Given the description of an element on the screen output the (x, y) to click on. 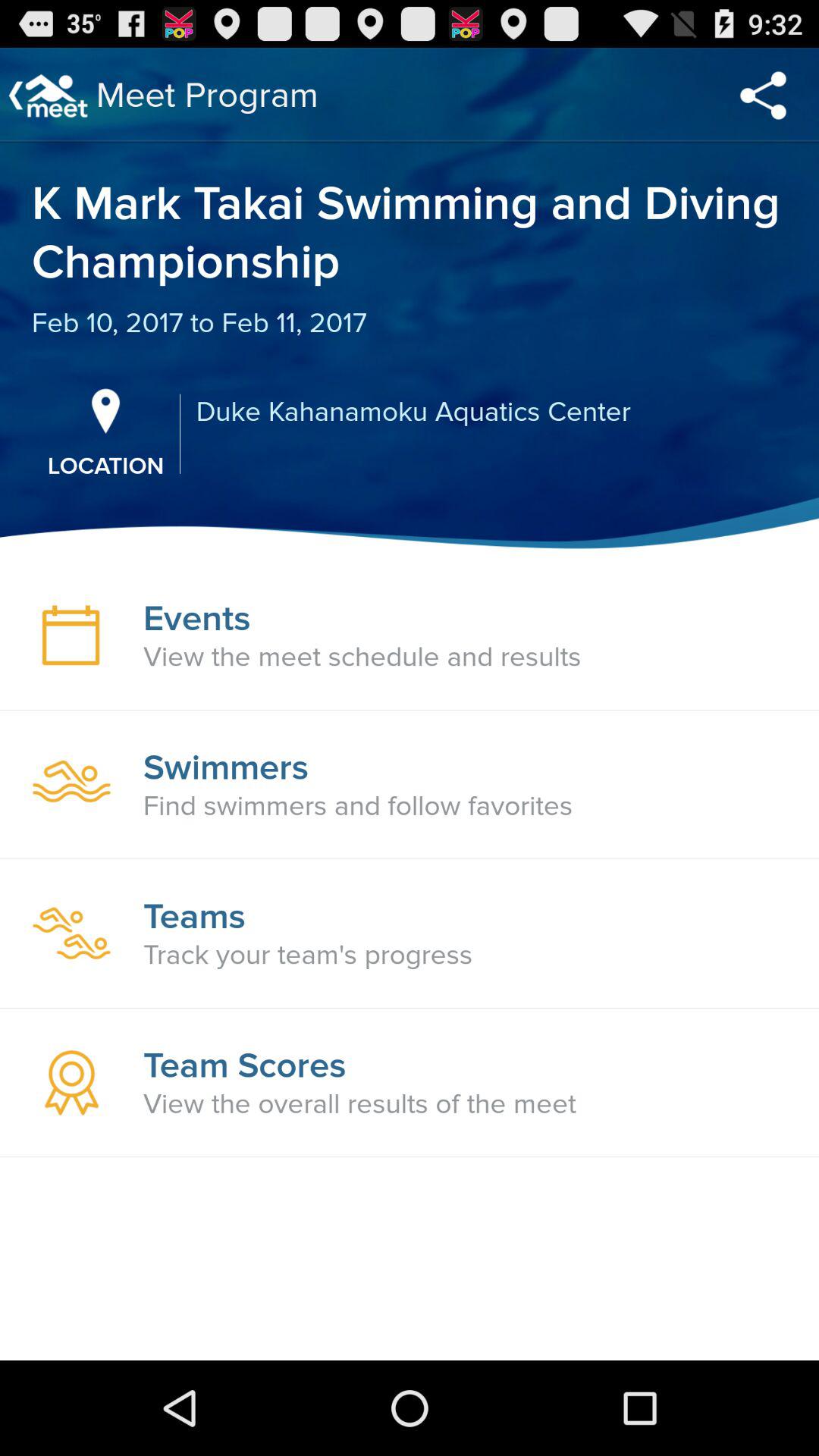
open app next to the meet program icon (763, 95)
